Given the description of an element on the screen output the (x, y) to click on. 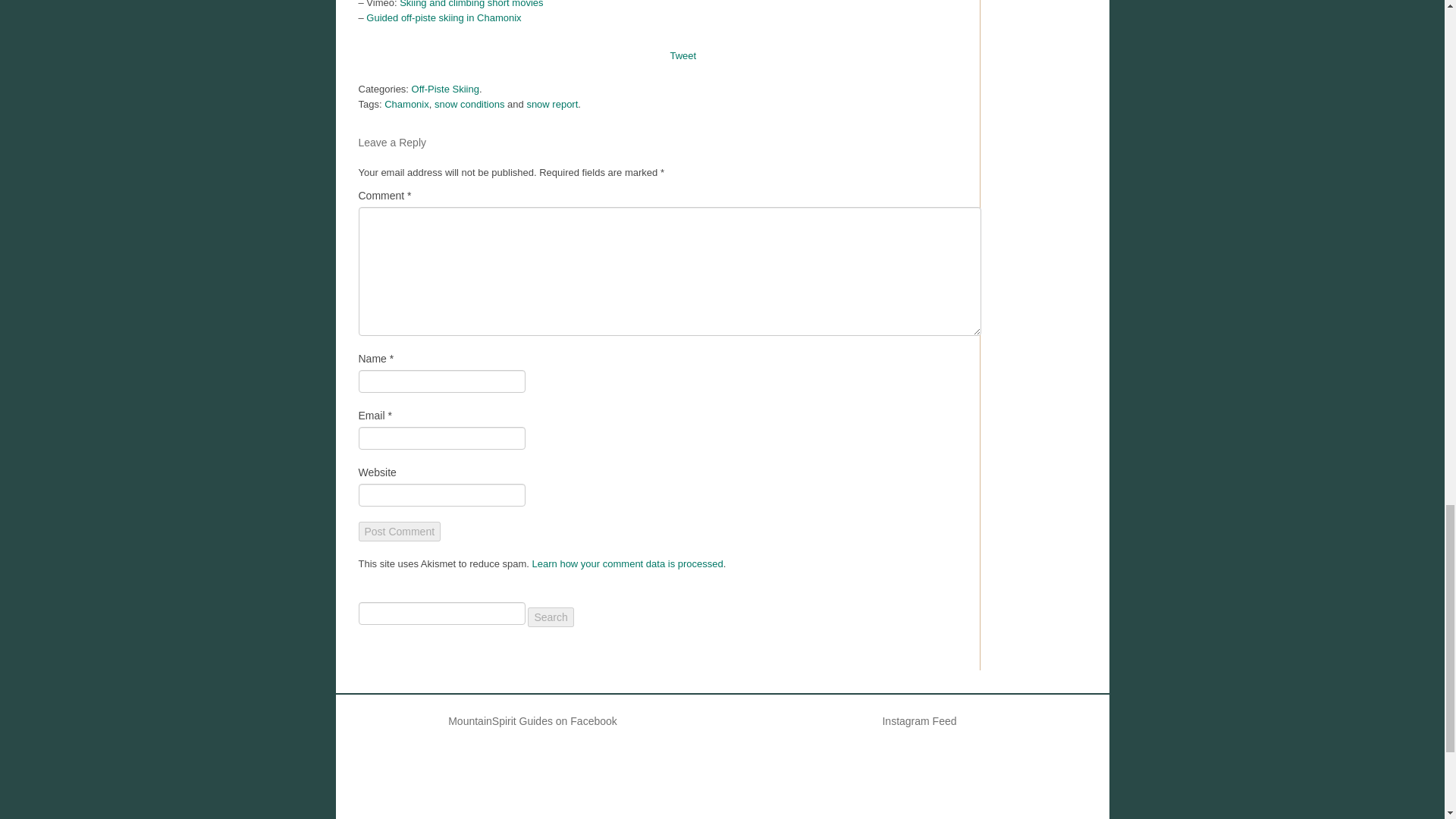
Guided off-piste skiing in Chamonix (443, 17)
Learn how your comment data is processed (627, 563)
snow report (551, 103)
Off-Piste Skiing (445, 89)
Post Comment (399, 531)
Tweet (683, 55)
Chamonix (406, 103)
Search (550, 617)
Search (550, 617)
Post Comment (399, 531)
